Given the description of an element on the screen output the (x, y) to click on. 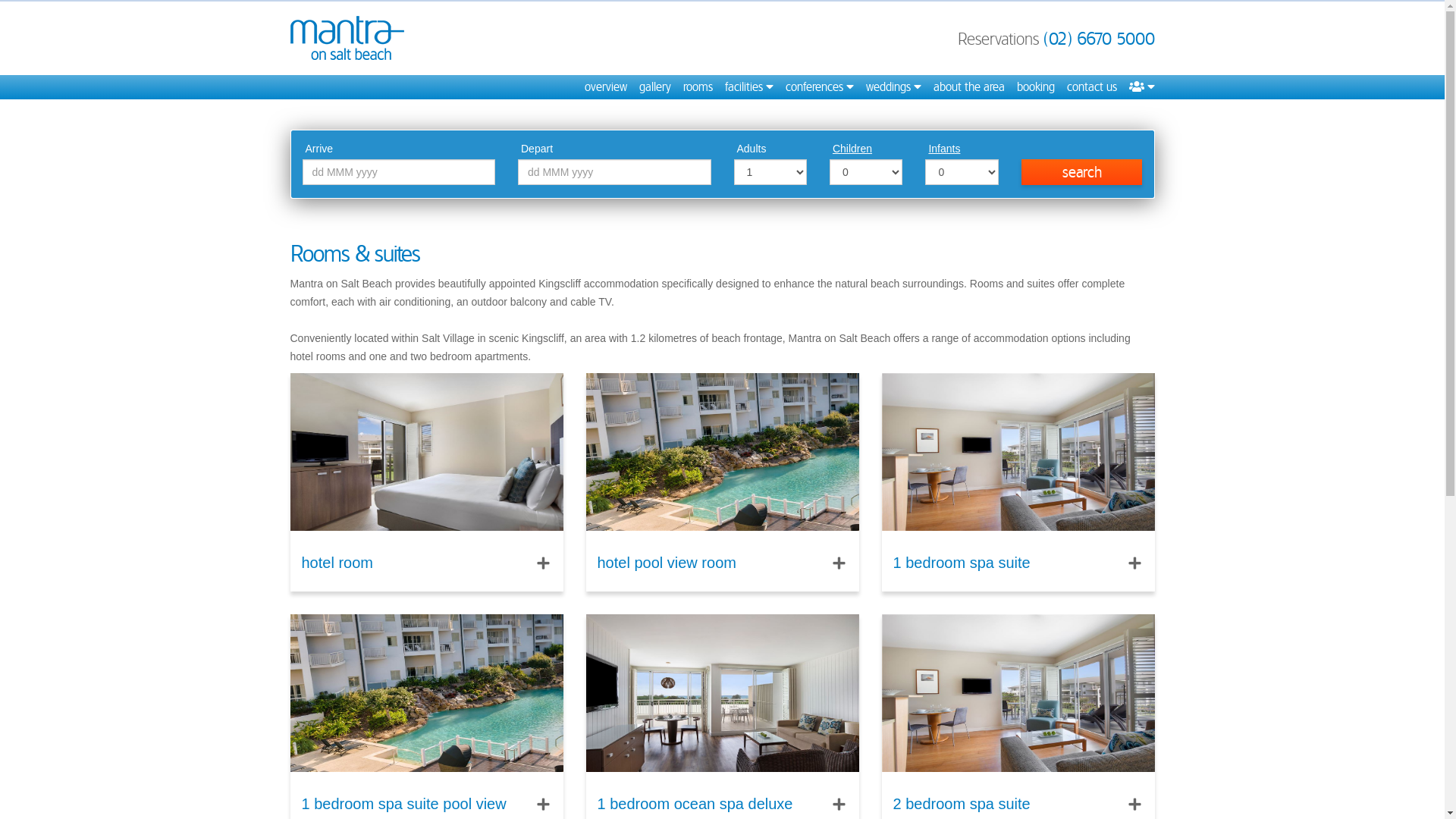
weddings Element type: text (893, 87)
booking Element type: text (1035, 87)
search Element type: text (1081, 172)
contact us Element type: text (1091, 87)
(02) 6670 5000 Element type: text (1098, 38)
conferences Element type: text (819, 87)
overview Element type: text (604, 87)
about the area Element type: text (968, 87)
gallery Element type: text (654, 87)
facilities Element type: text (748, 87)
Mantra on Salt Beach Element type: hover (346, 37)
rooms Element type: text (697, 87)
